Given the description of an element on the screen output the (x, y) to click on. 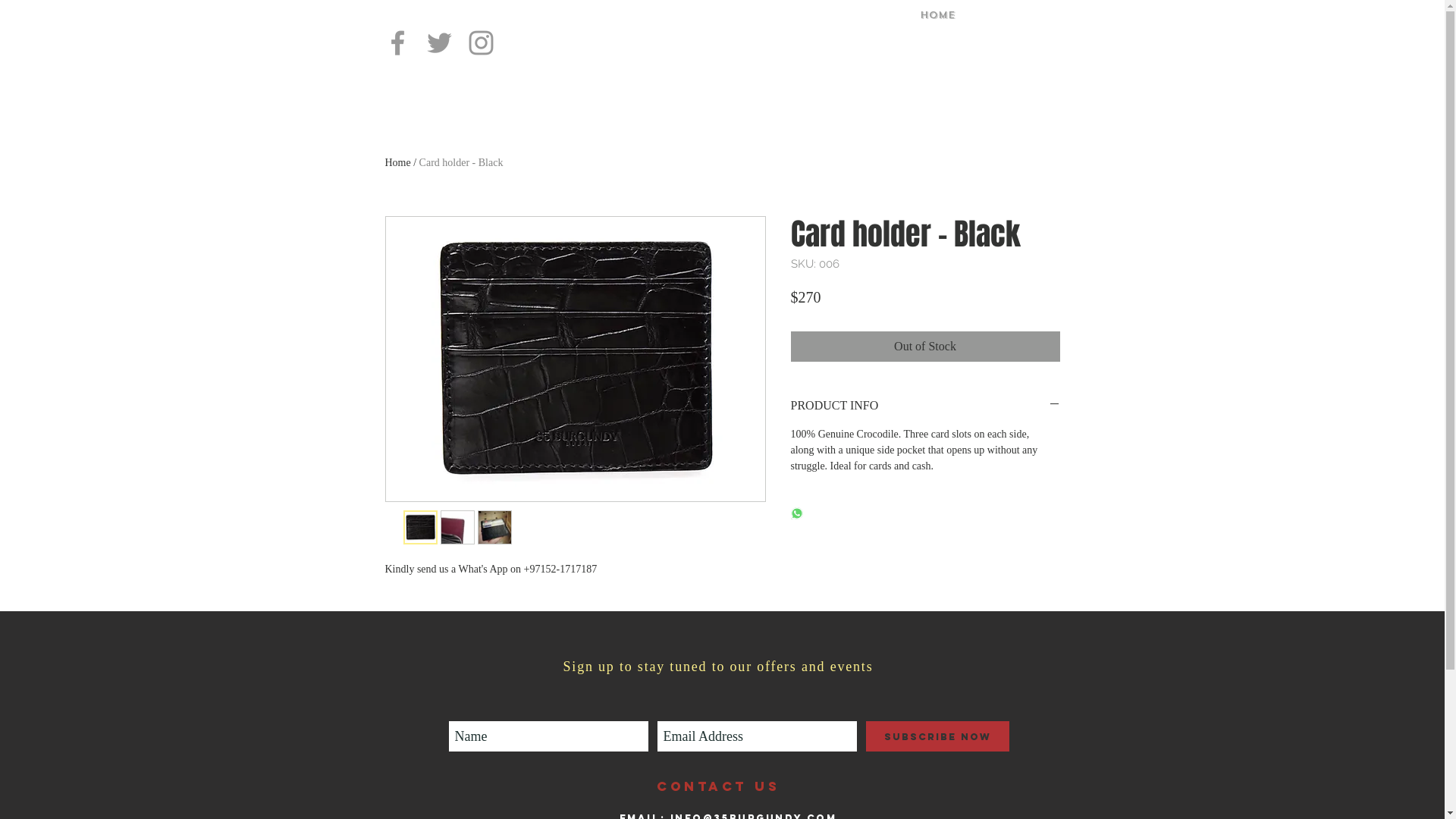
Out of Stock Element type: text (924, 346)
HOME Element type: text (936, 15)
Card holder - Black Element type: text (461, 162)
PRODUCT INFO Element type: text (924, 405)
Subscribe Now Element type: text (937, 736)
Home Element type: text (398, 162)
